Given the description of an element on the screen output the (x, y) to click on. 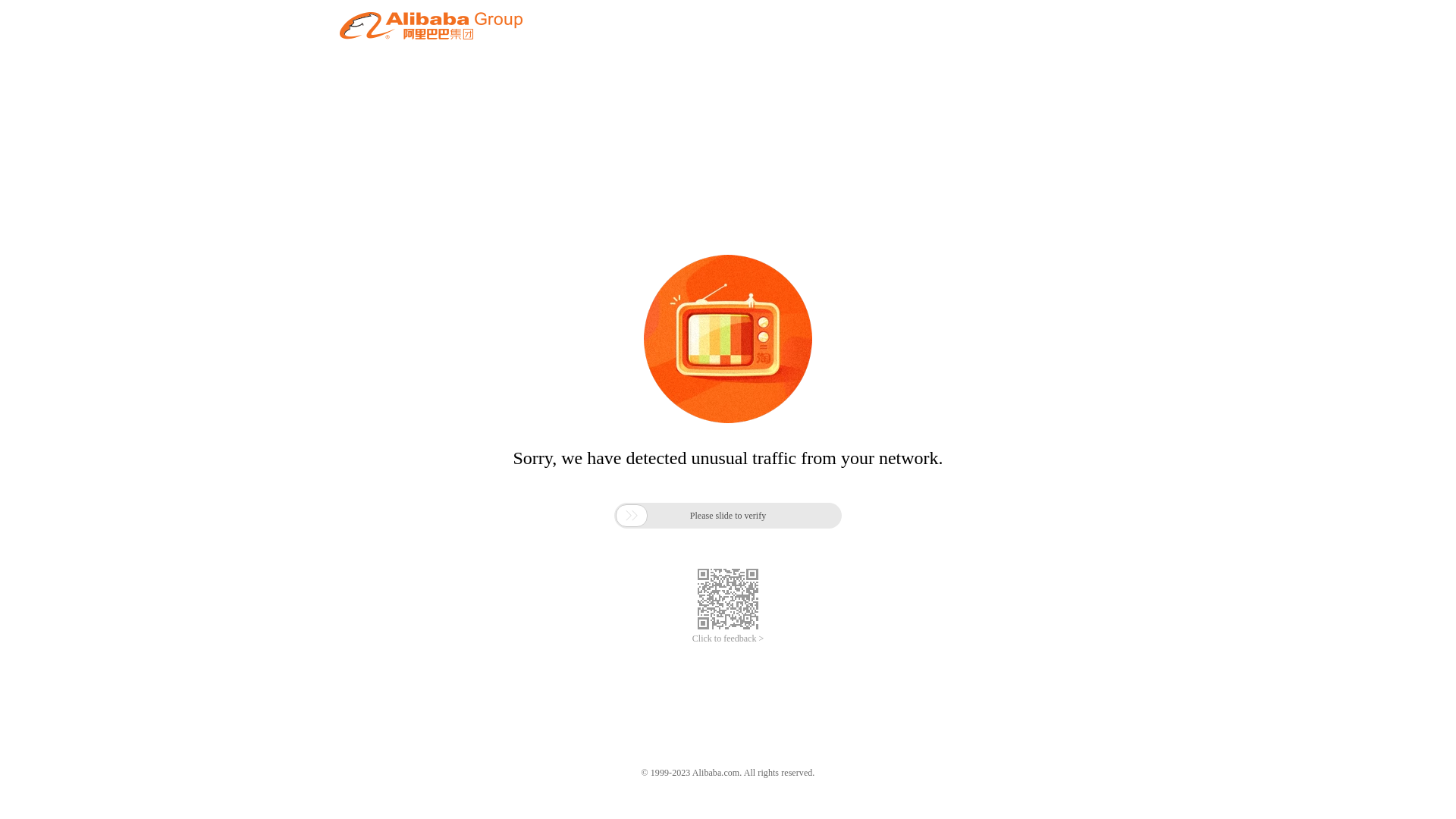
Click to feedback > Element type: text (727, 638)
